Given the description of an element on the screen output the (x, y) to click on. 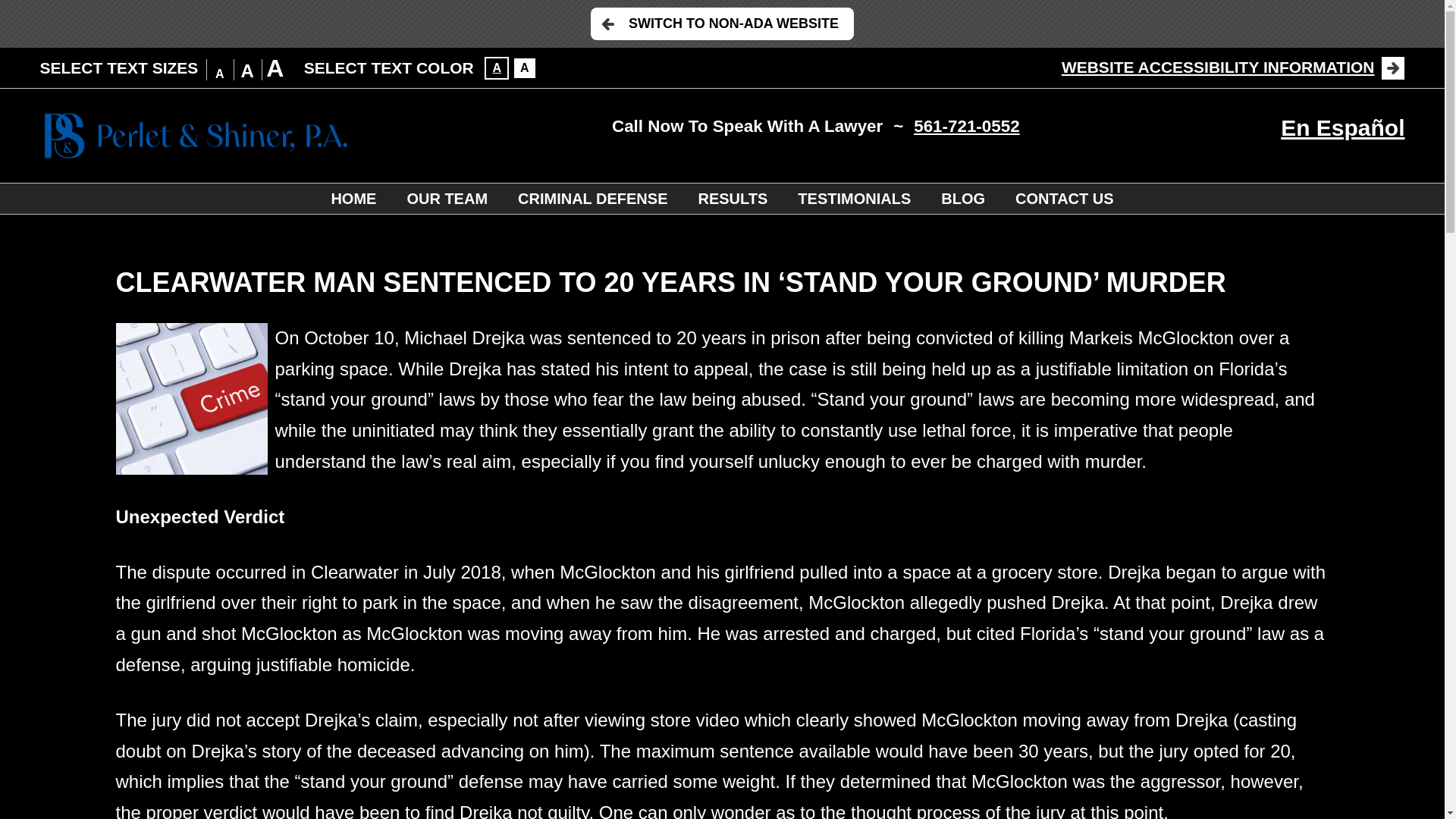
HOME (353, 198)
Click to view external accessibility article (1233, 67)
WEBSITE ACCESSIBILITY INFORMATION (1233, 67)
Invert Colors (524, 67)
OUR TEAM (446, 198)
A (524, 67)
561-721-0552 (966, 126)
Invert Colors (496, 67)
CRIMINAL DEFENSE (592, 198)
Crime2 (190, 398)
A (496, 67)
SWITCH TO NON-ADA WEBSITE (722, 23)
